Given the description of an element on the screen output the (x, y) to click on. 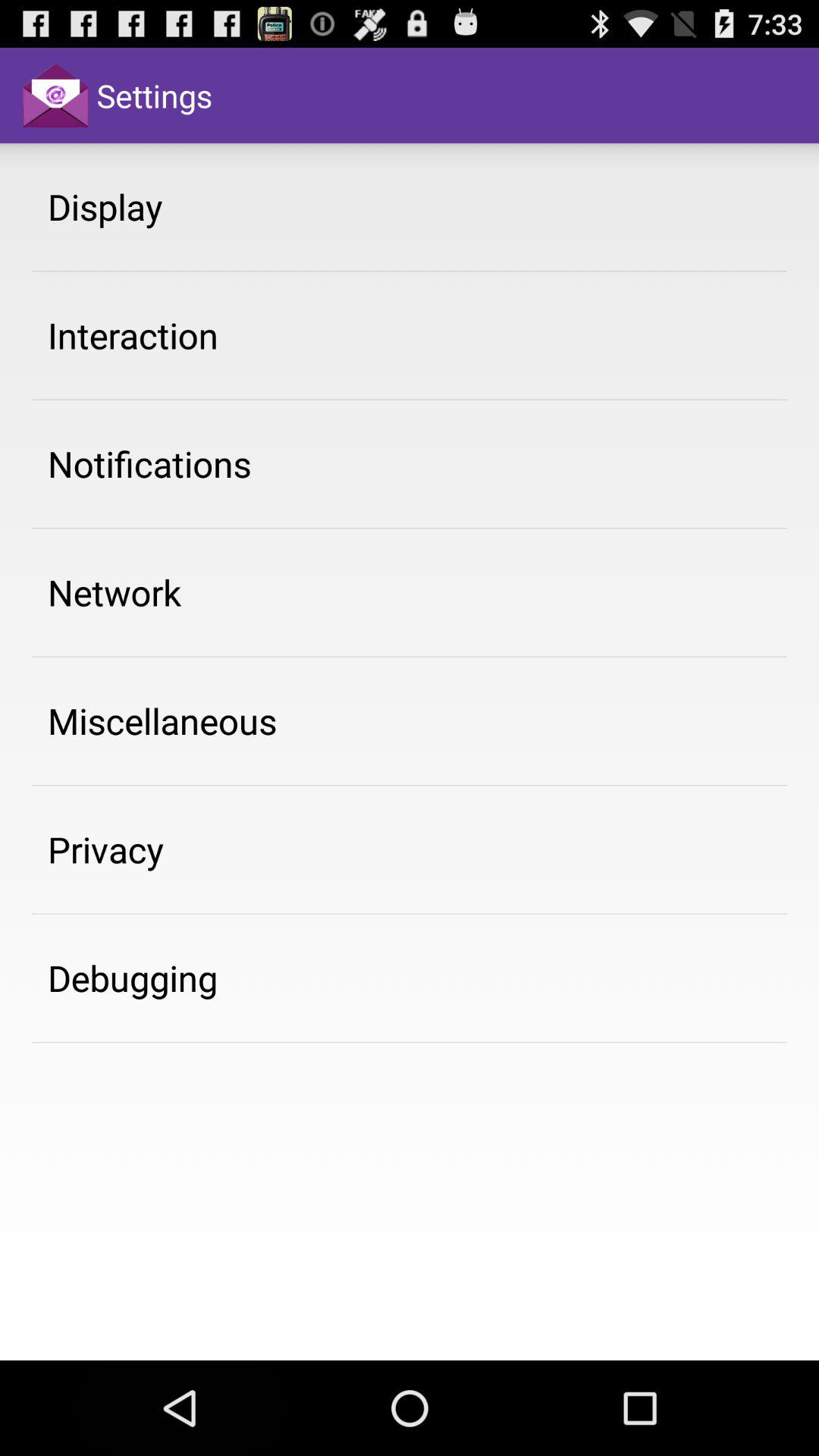
launch item below the network (161, 720)
